Given the description of an element on the screen output the (x, y) to click on. 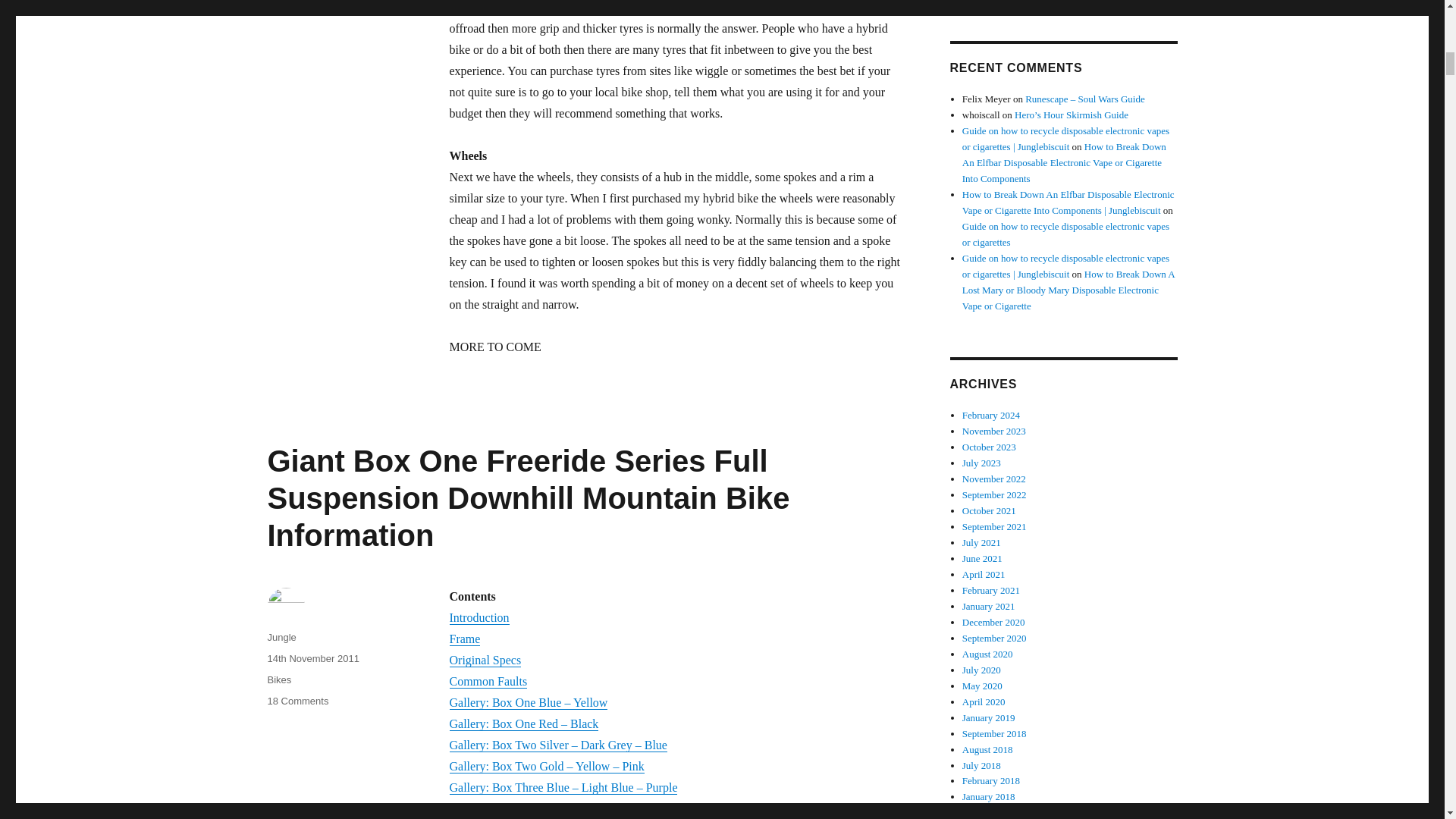
Introduction (478, 617)
Common Faults (487, 680)
Original Specs (484, 659)
Gallery: Box Shock (496, 808)
Frame (464, 638)
